Given the description of an element on the screen output the (x, y) to click on. 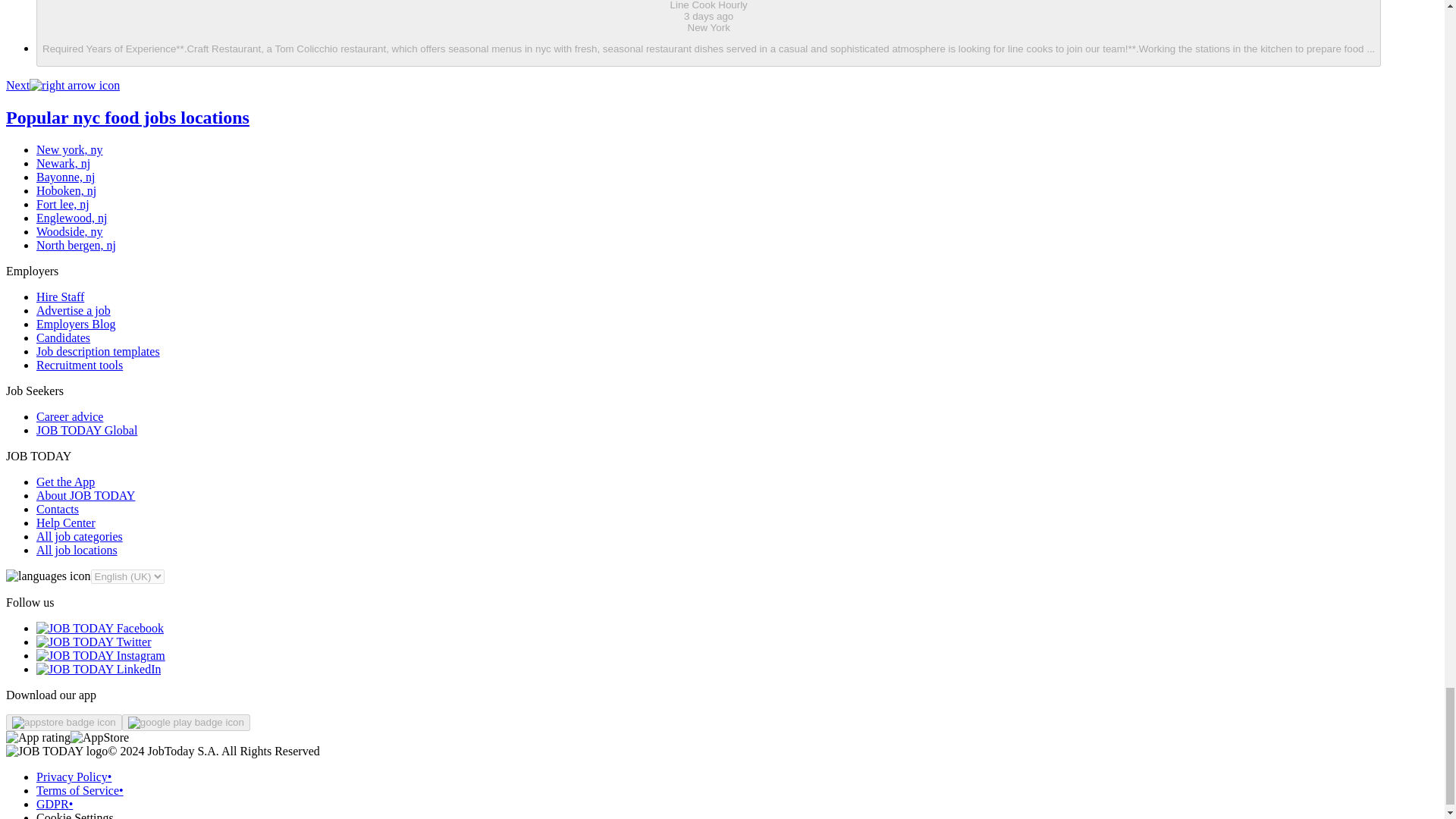
Popular nyc food jobs locations (126, 117)
Bayonne, nj (65, 176)
JOB TODAY Twitter (93, 641)
JOB TODAY Instagram (100, 655)
Englewood, nj (71, 217)
New york, ny (69, 149)
JOB TODAY logo (56, 751)
JOB TODAY iOS Application (63, 722)
Newark, nj (63, 163)
Fort lee, nj (62, 204)
